Given the description of an element on the screen output the (x, y) to click on. 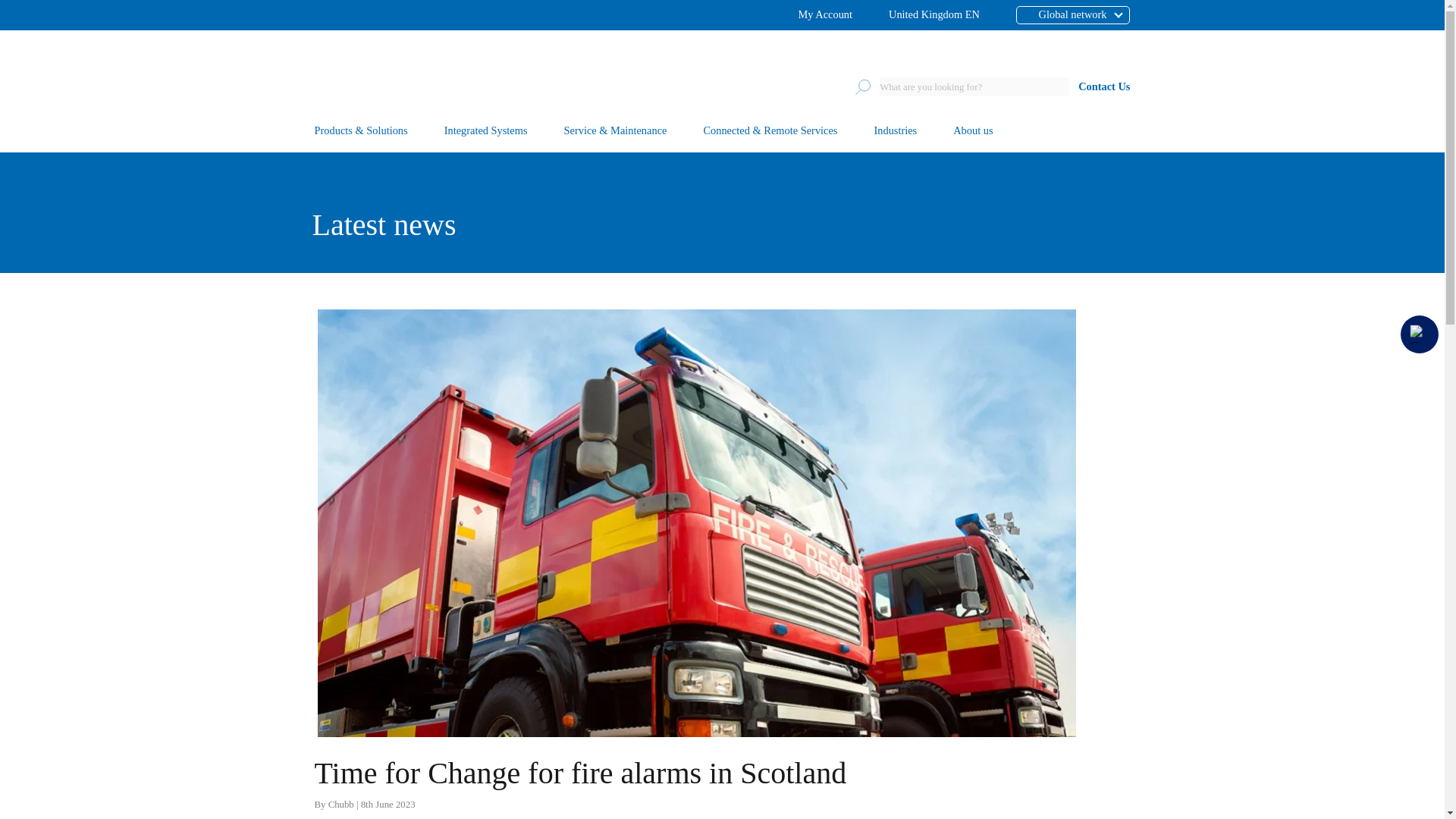
Search for: (973, 86)
Contact Phone (1419, 333)
My Account (824, 14)
Global network (1055, 14)
United Kingdom EN (933, 14)
